Given the description of an element on the screen output the (x, y) to click on. 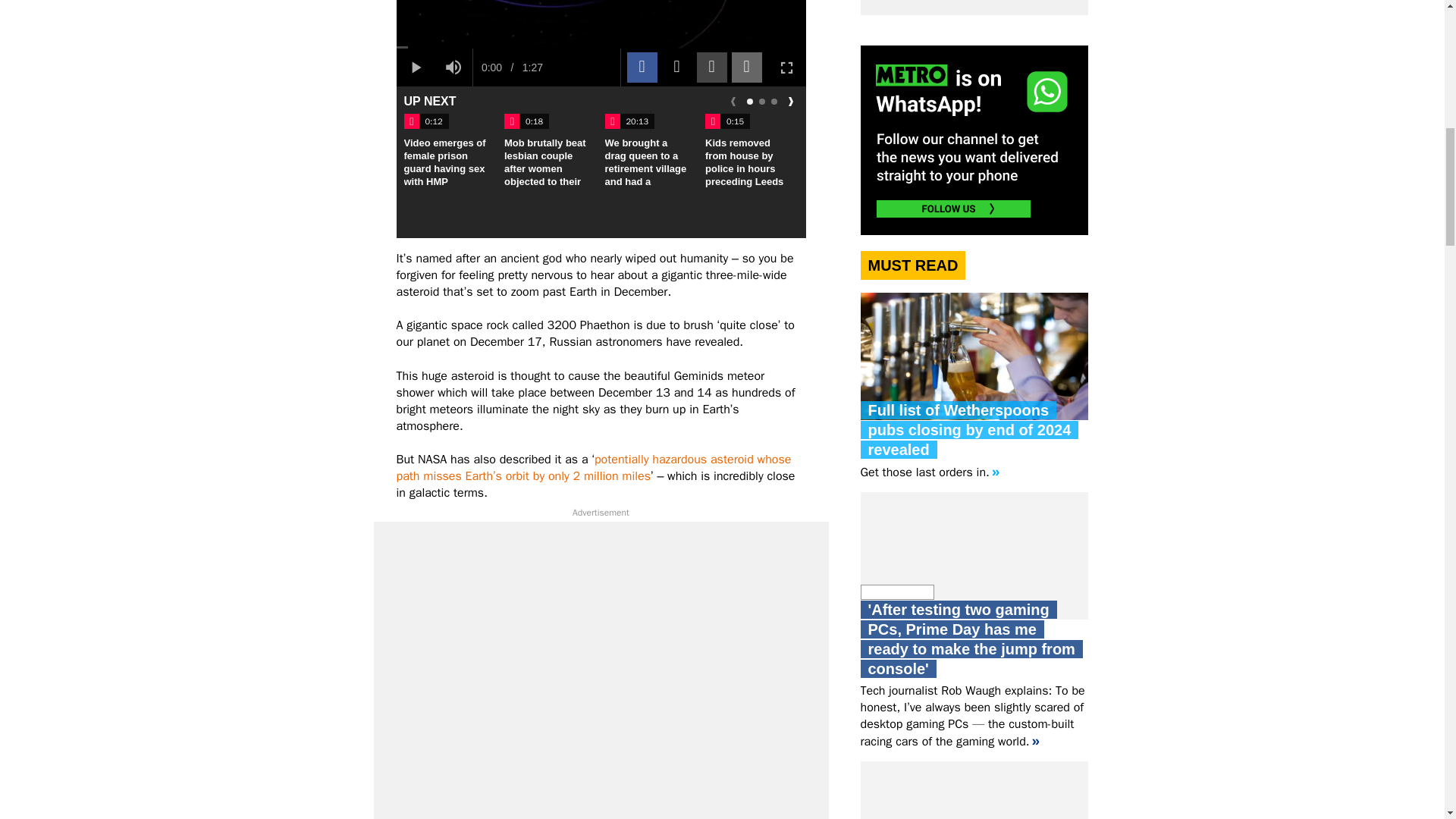
Play (414, 67)
Mute (452, 67)
Fullscreen (786, 67)
